Given the description of an element on the screen output the (x, y) to click on. 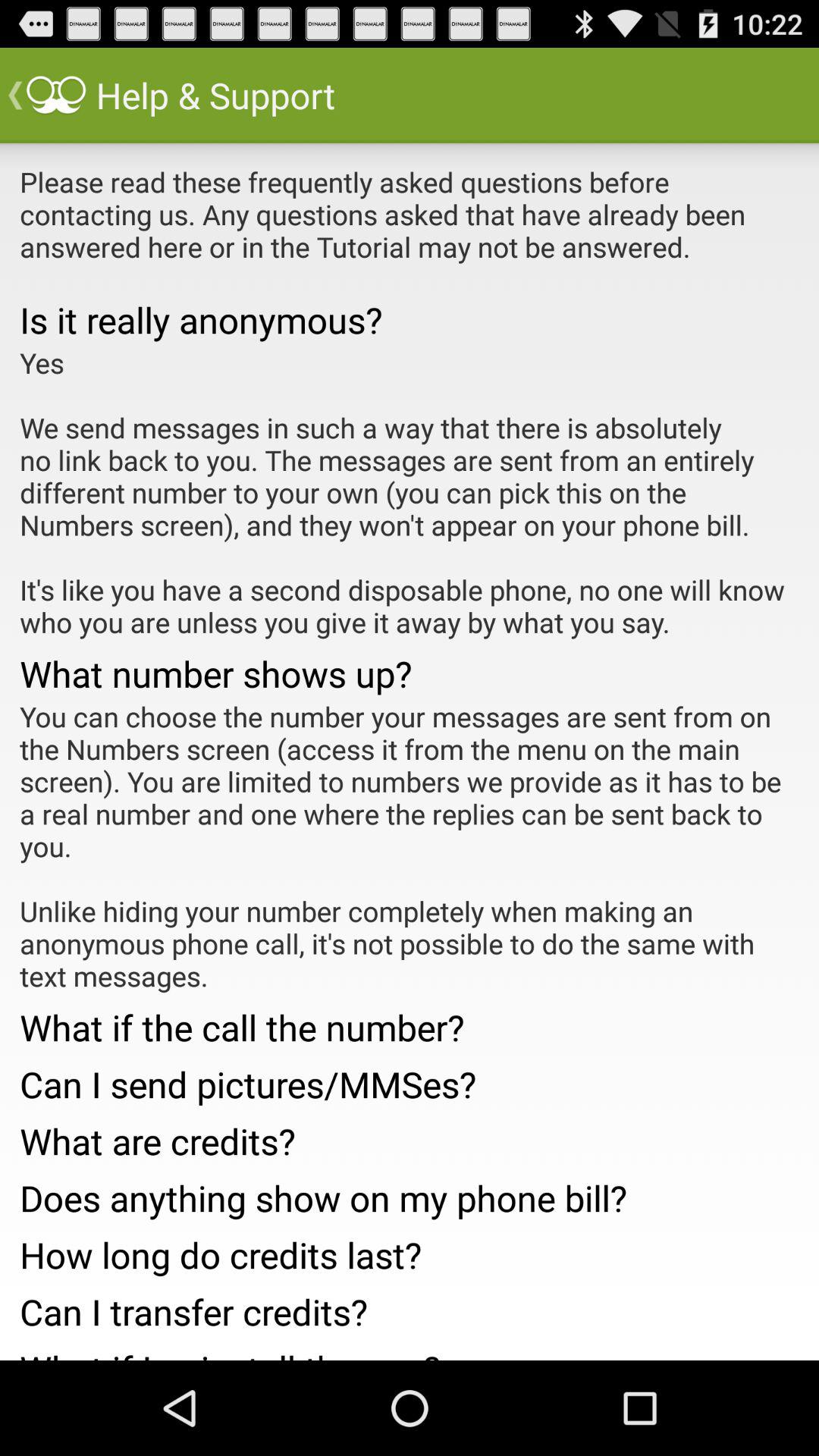
press the how long do item (409, 1250)
